Given the description of an element on the screen output the (x, y) to click on. 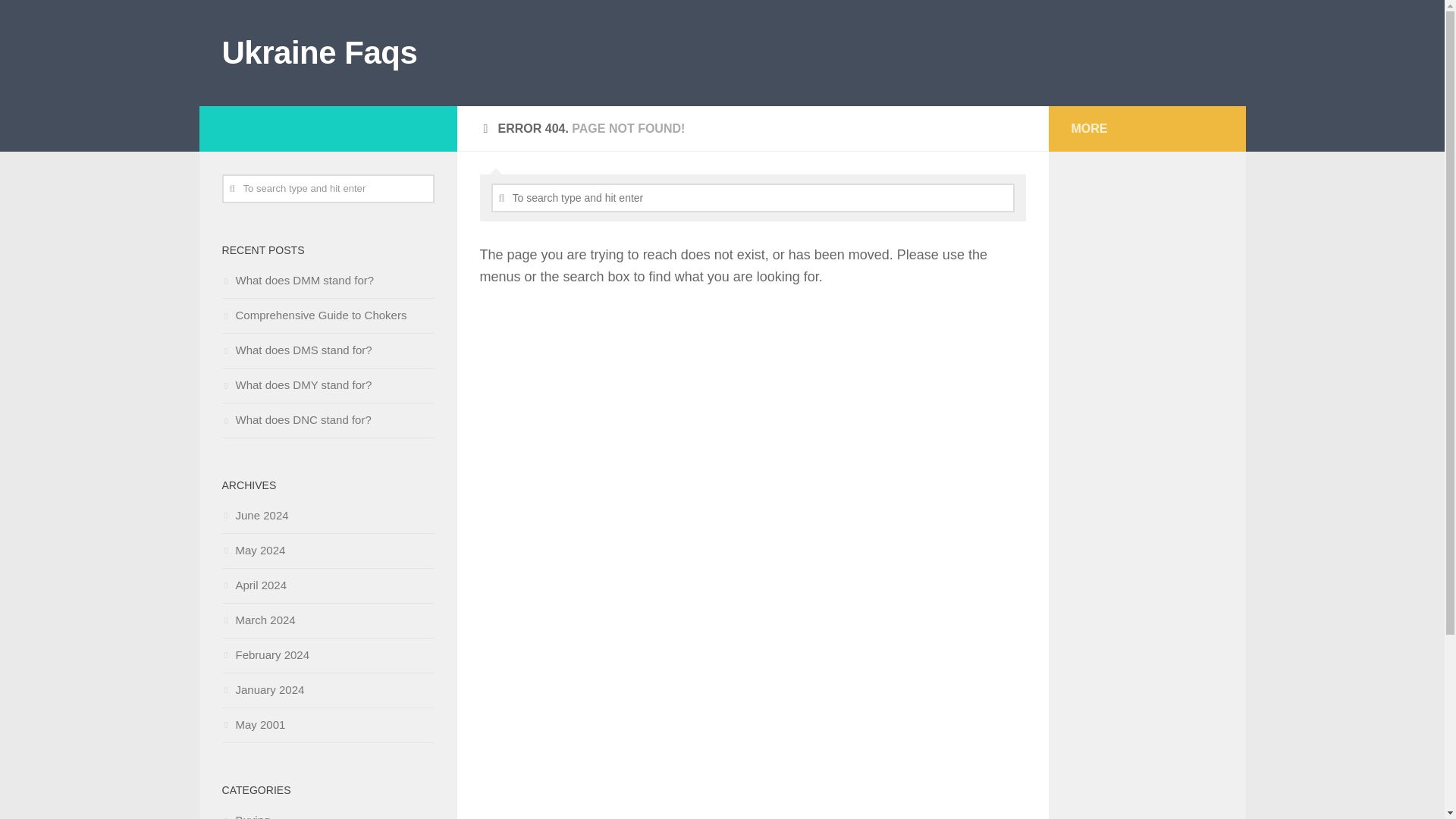
Buying (245, 816)
What does DMS stand for? (296, 349)
Comprehensive Guide to Chokers (313, 314)
To search type and hit enter (327, 188)
January 2024 (262, 689)
February 2024 (264, 654)
What does DMM stand for? (297, 279)
To search type and hit enter (327, 188)
To search type and hit enter (753, 197)
What does DNC stand for? (296, 419)
To search type and hit enter (753, 197)
What does DMY stand for? (296, 384)
May 2024 (253, 549)
April 2024 (253, 584)
May 2001 (253, 724)
